Given the description of an element on the screen output the (x, y) to click on. 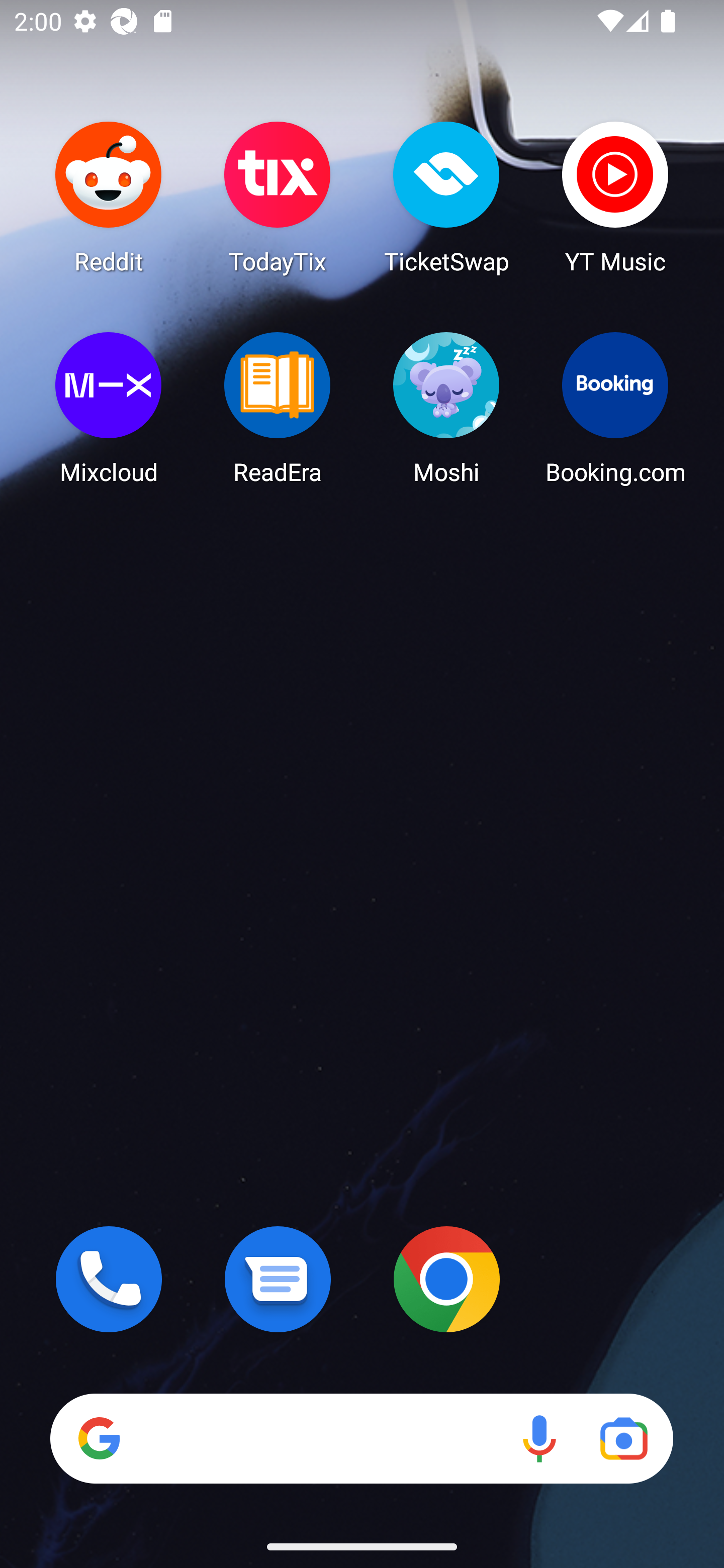
Reddit (108, 196)
TodayTix (277, 196)
TicketSwap (445, 196)
YT Music (615, 196)
Mixcloud (108, 407)
ReadEra (277, 407)
Moshi (445, 407)
Booking.com (615, 407)
Phone (108, 1279)
Messages (277, 1279)
Chrome (446, 1279)
Search Voice search Google Lens (361, 1438)
Voice search (539, 1438)
Google Lens (623, 1438)
